Given the description of an element on the screen output the (x, y) to click on. 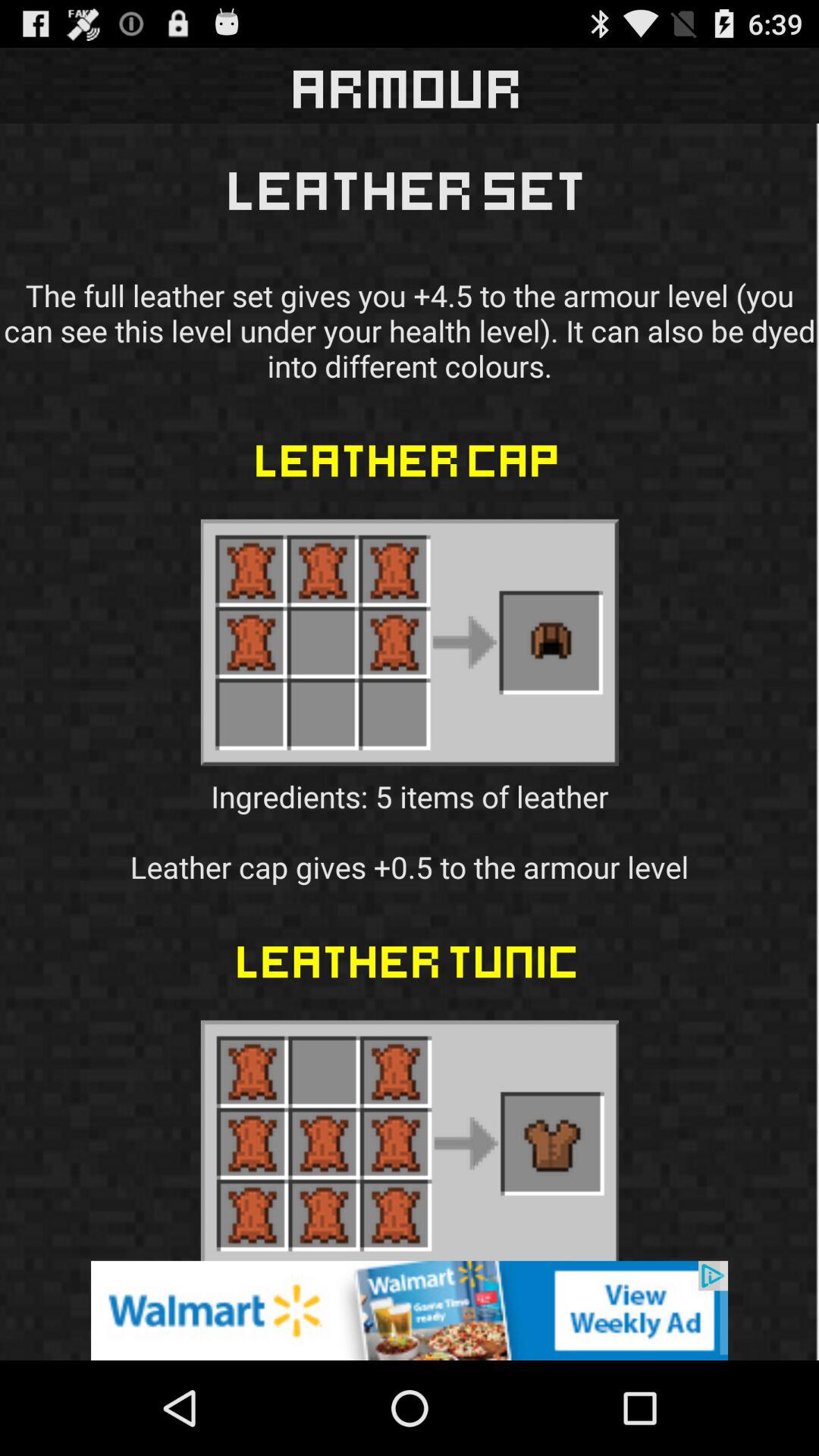
select the icon below leather tunic icon (409, 1310)
